Given the description of an element on the screen output the (x, y) to click on. 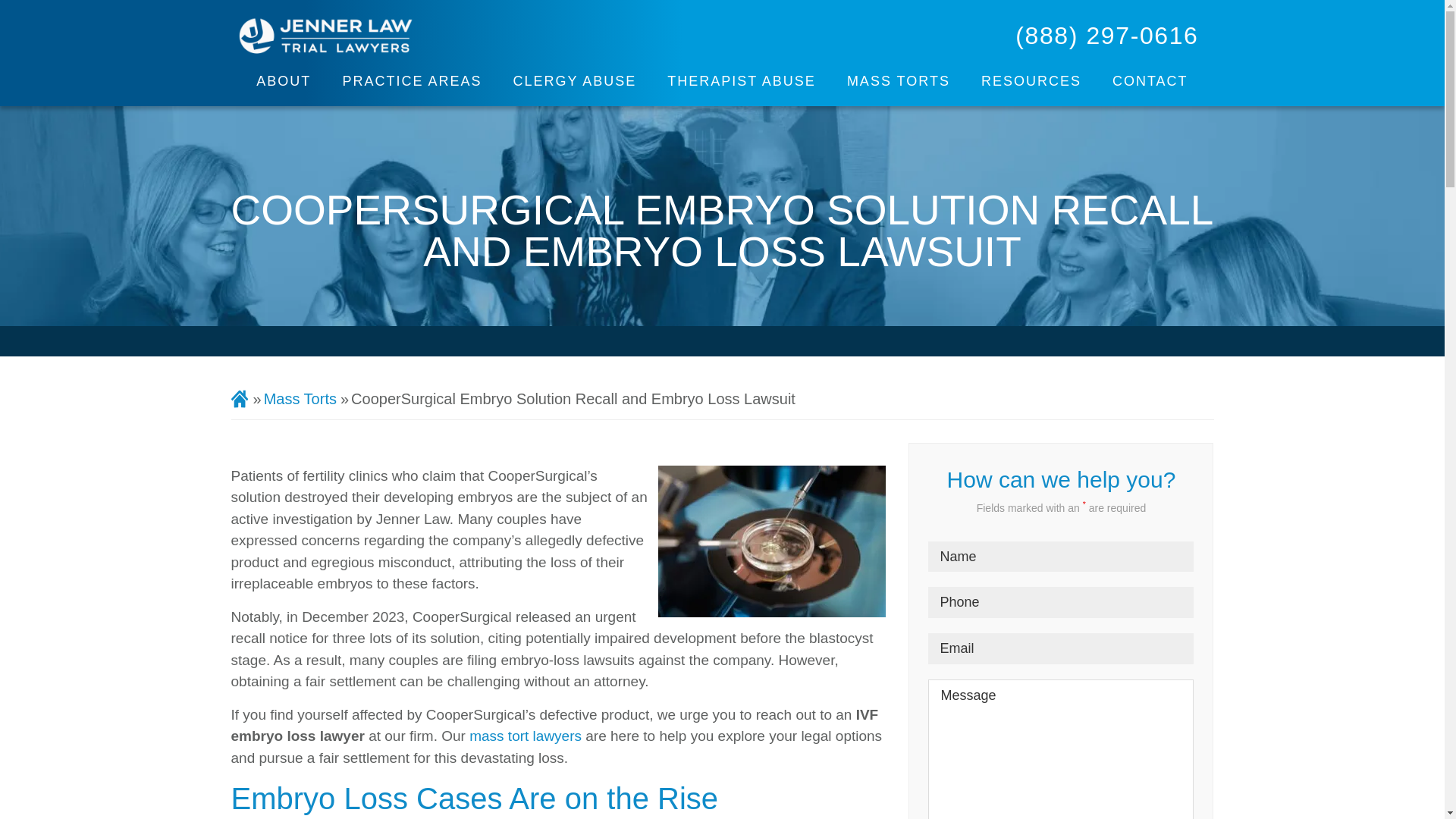
RESOURCES (1037, 81)
THERAPIST ABUSE (746, 81)
MASS TORTS (903, 81)
CLERGY ABUSE (579, 81)
Call to Jenner Law Firm (1106, 35)
Jenner Law Firm (325, 35)
PRACTICE AREAS (417, 81)
ABOUT (288, 81)
